Given the description of an element on the screen output the (x, y) to click on. 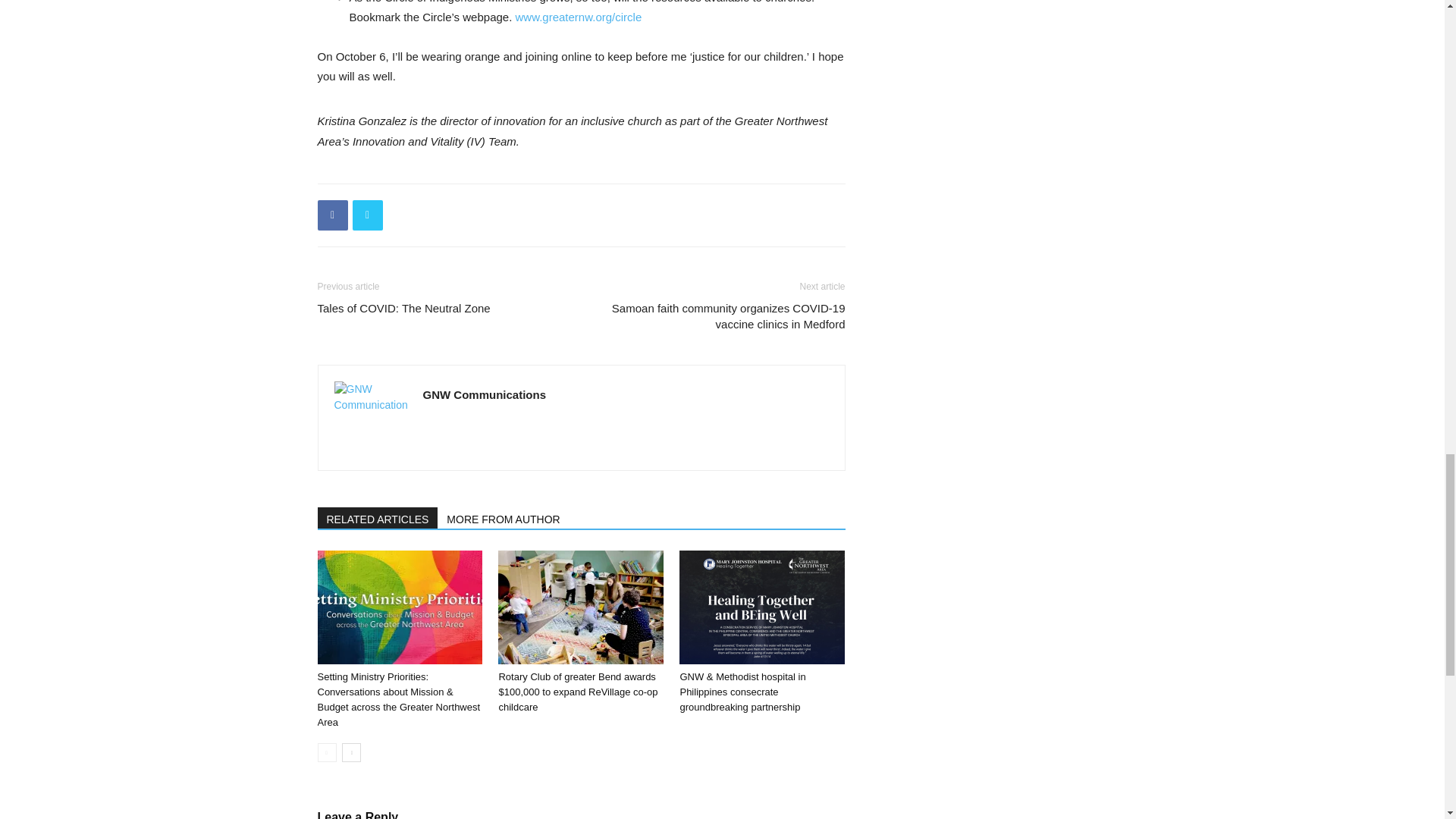
Facebook (332, 214)
Twitter (366, 214)
